Given the description of an element on the screen output the (x, y) to click on. 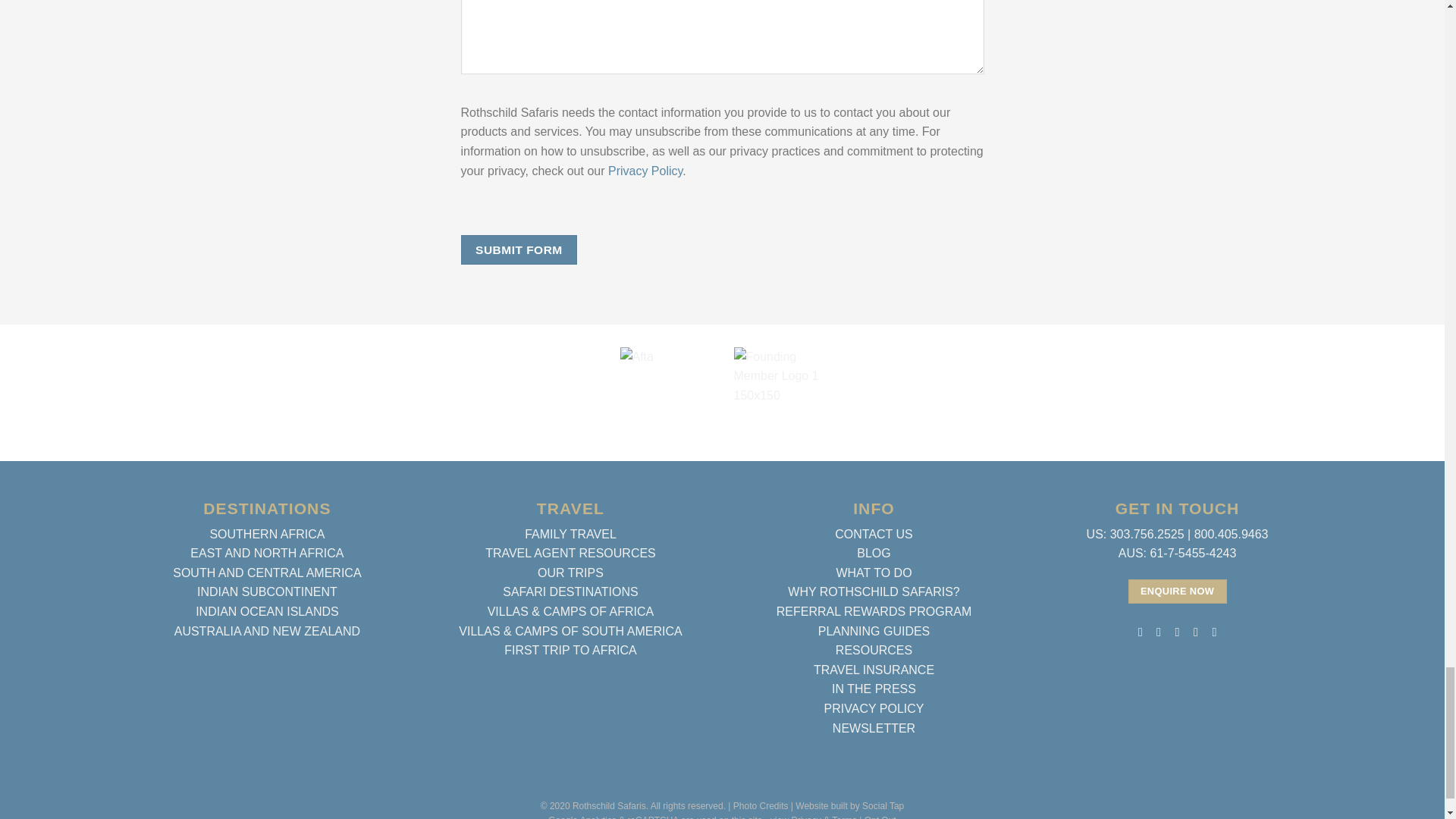
Submit Form (519, 249)
